Given the description of an element on the screen output the (x, y) to click on. 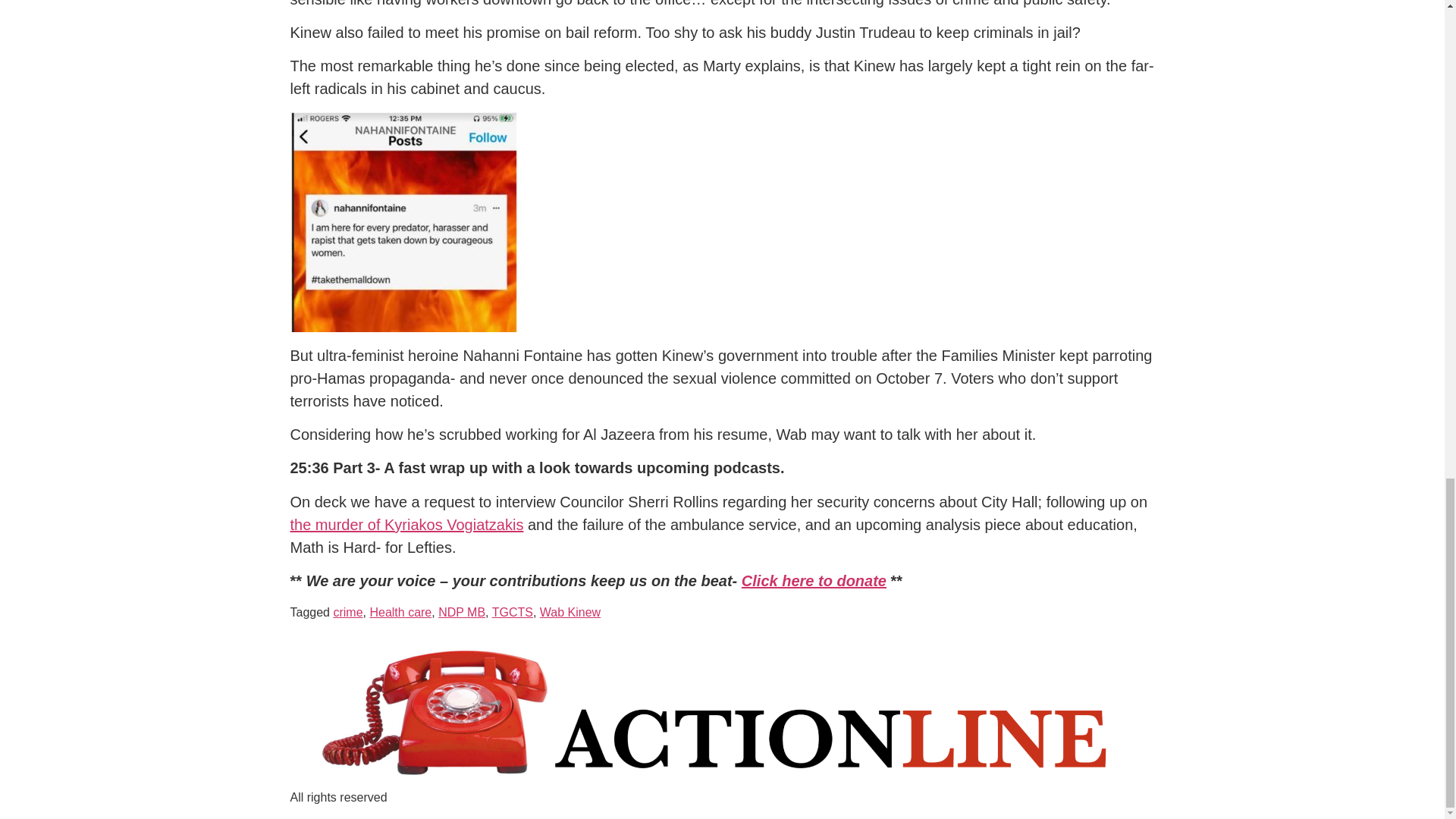
Health care (399, 612)
NDP MB (461, 612)
Click here to donate (813, 580)
TGCTS (512, 612)
crime (347, 612)
the murder of Kyriakos Vogiatzakis (405, 524)
Wab Kinew (569, 612)
